Given the description of an element on the screen output the (x, y) to click on. 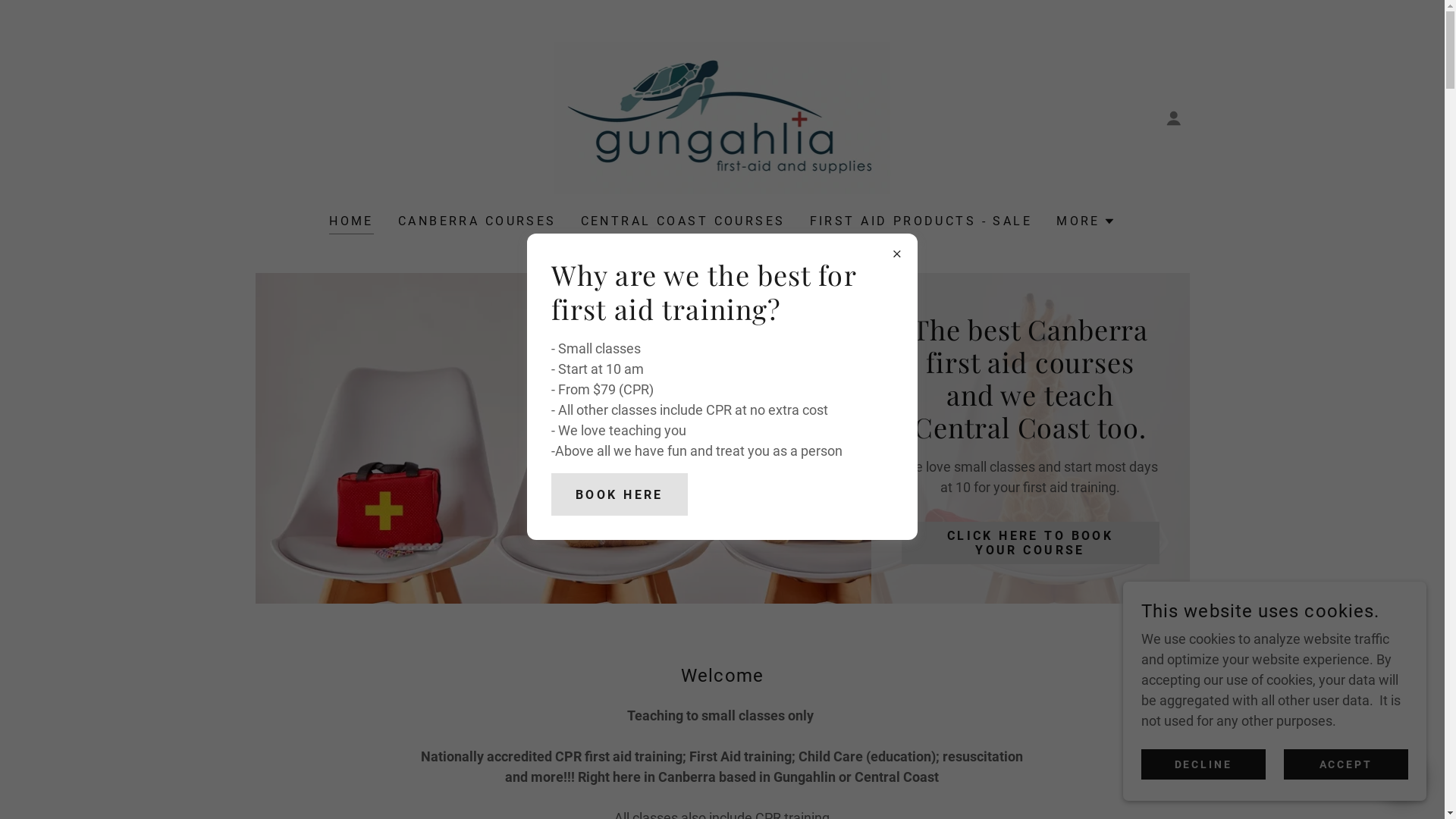
ACCEPT Element type: text (1345, 764)
CLICK HERE TO BOOK YOUR COURSE Element type: text (1029, 542)
HOME Element type: text (351, 223)
MORE Element type: text (1085, 221)
First Aid Training  Element type: hover (722, 117)
CENTRAL COAST COURSES Element type: text (683, 221)
BOOK HERE Element type: text (619, 494)
FIRST AID PRODUCTS - SALE Element type: text (921, 221)
DECLINE Element type: text (1203, 764)
CANBERRA COURSES Element type: text (477, 221)
